Given the description of an element on the screen output the (x, y) to click on. 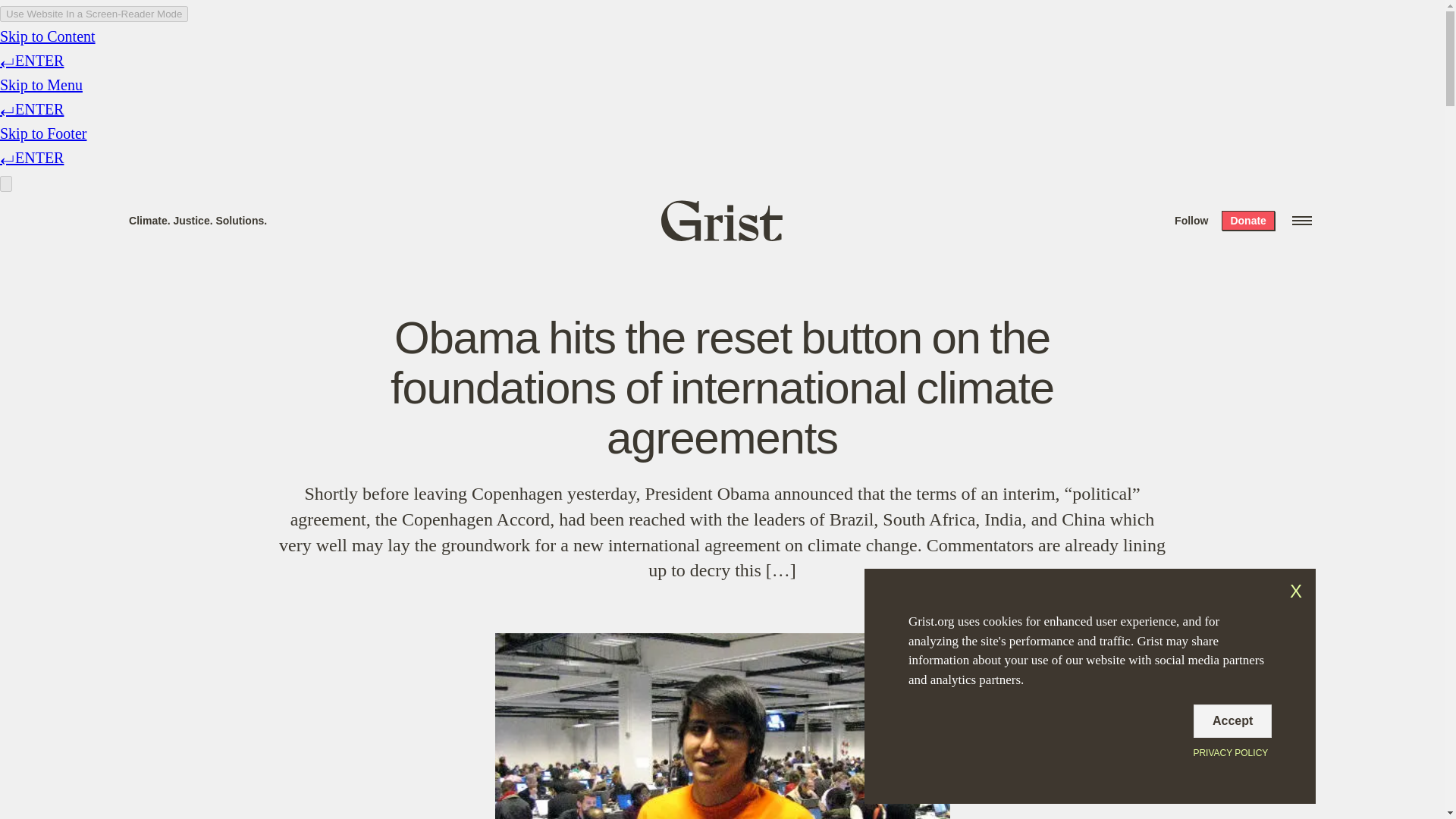
Donate (1247, 220)
Follow (1191, 220)
Accept (1232, 720)
Grist home (722, 219)
Search (227, 18)
